Given the description of an element on the screen output the (x, y) to click on. 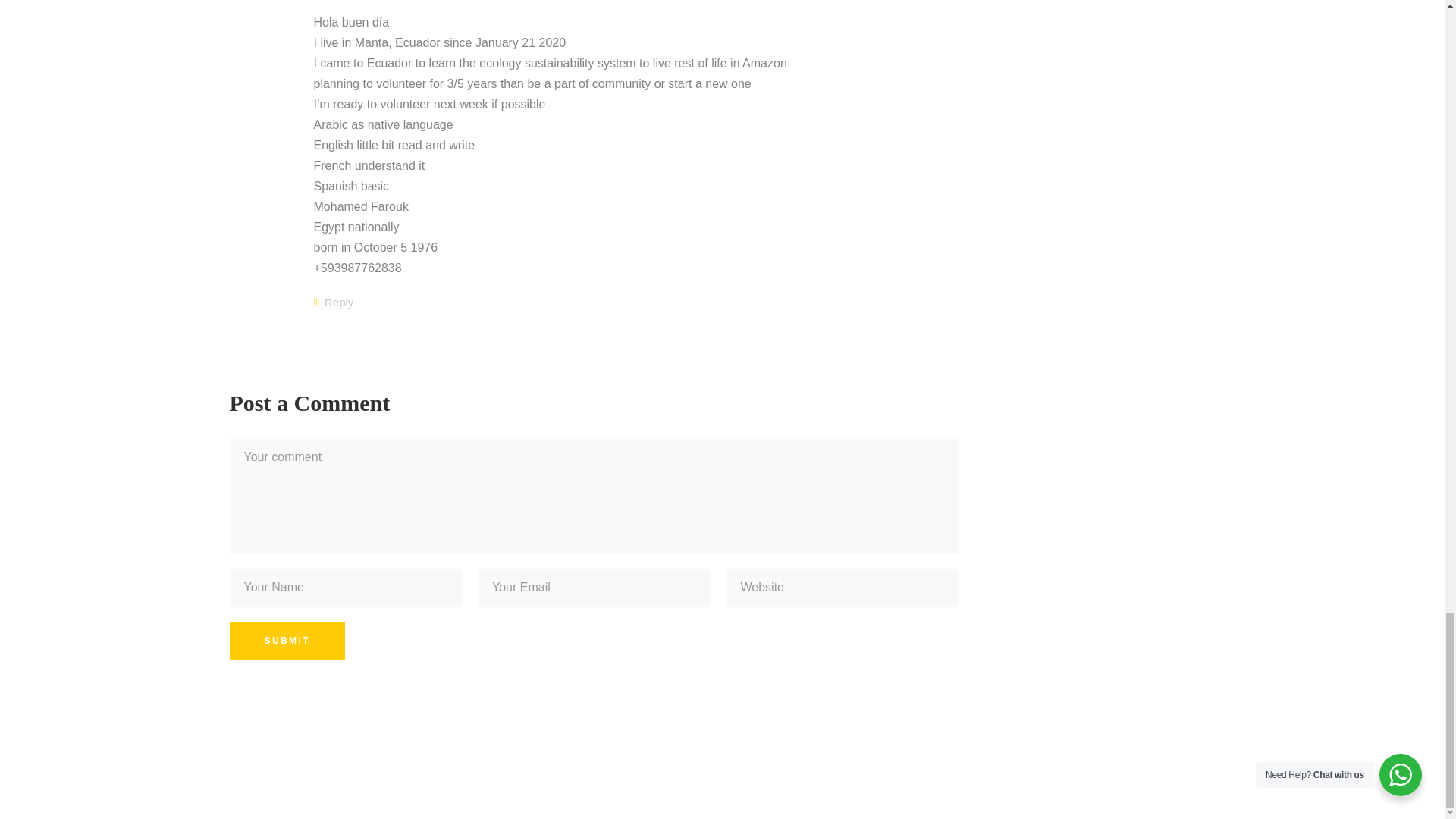
Submit (285, 640)
